Given the description of an element on the screen output the (x, y) to click on. 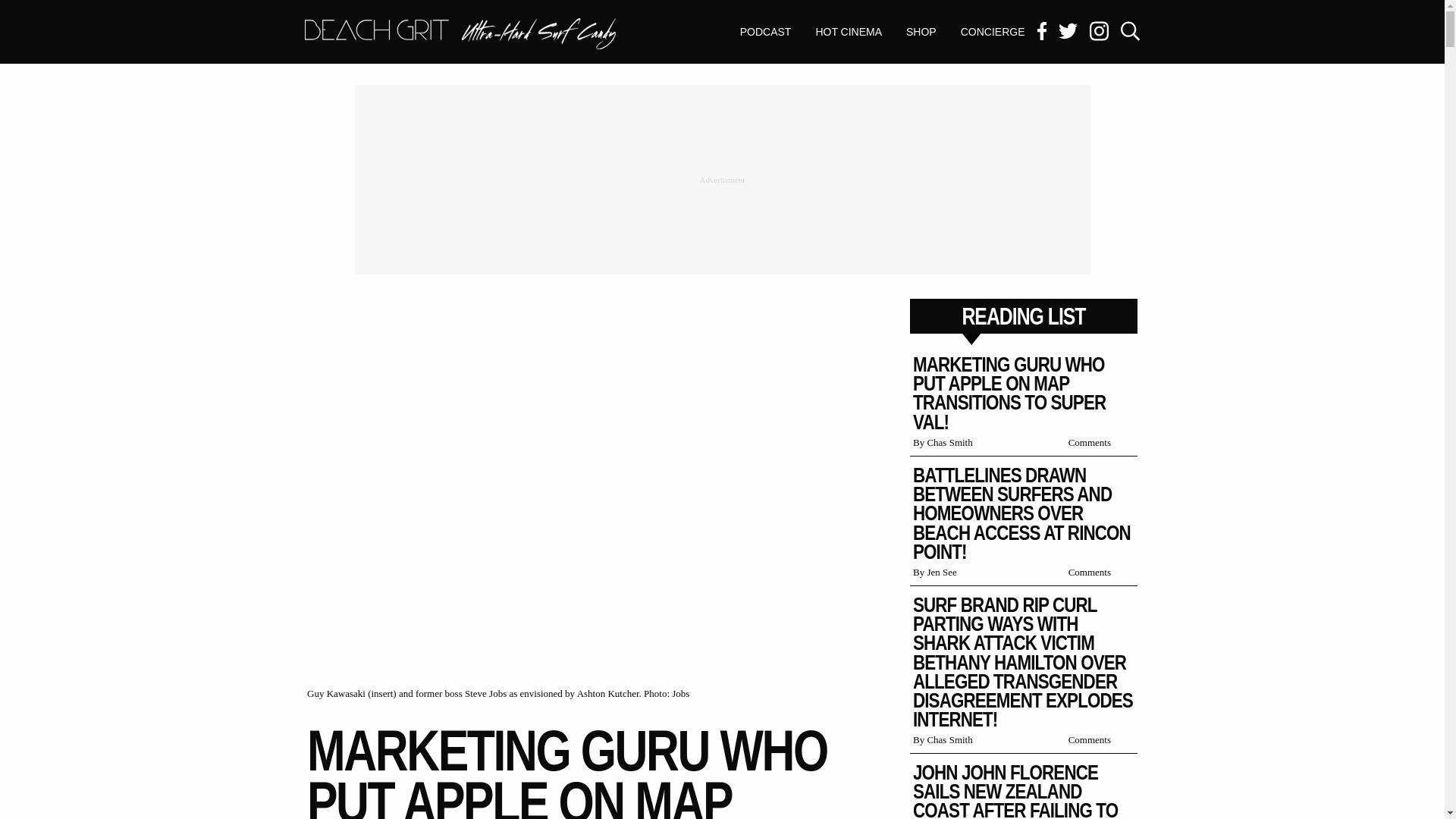
CONCIERGE (992, 31)
BG-LOGO (459, 34)
SHOP (459, 33)
HOT CINEMA (921, 31)
PODCAST (848, 31)
